Given the description of an element on the screen output the (x, y) to click on. 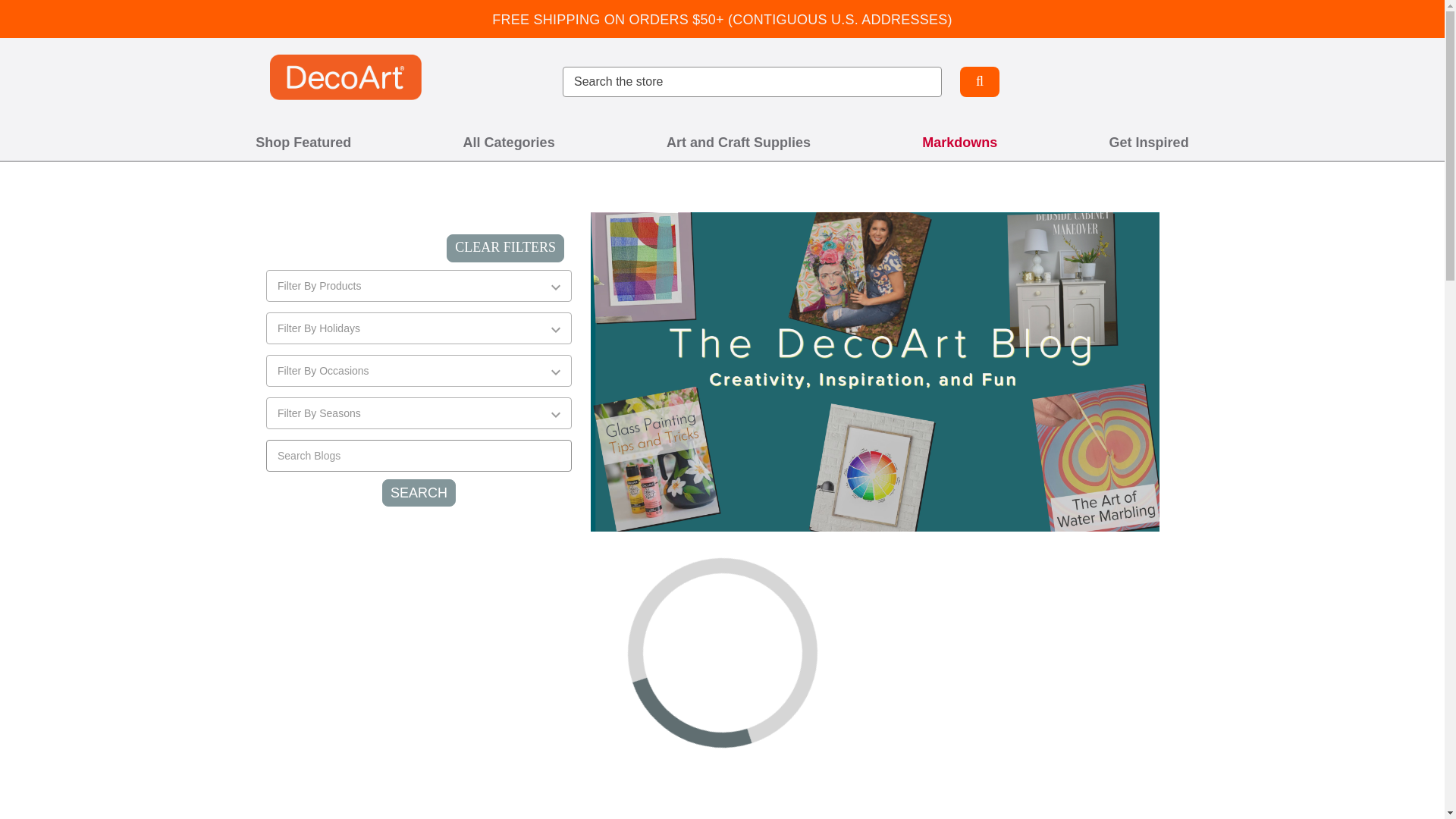
DecoArt Acrylic Paint and Art Supplies (345, 76)
Shop Featured (302, 142)
Shop Featured (302, 143)
